Given the description of an element on the screen output the (x, y) to click on. 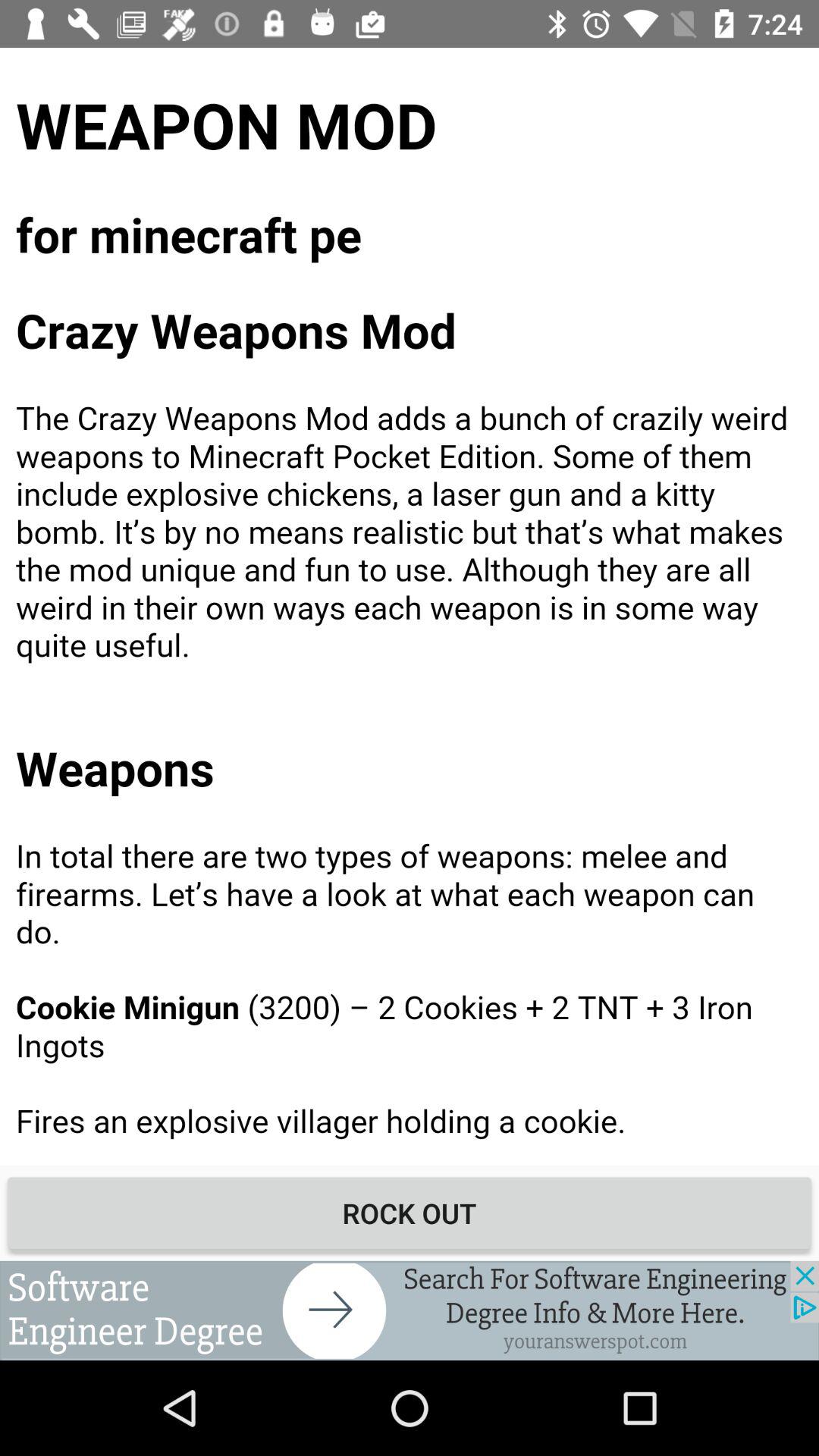
open advertisement (409, 1310)
